Given the description of an element on the screen output the (x, y) to click on. 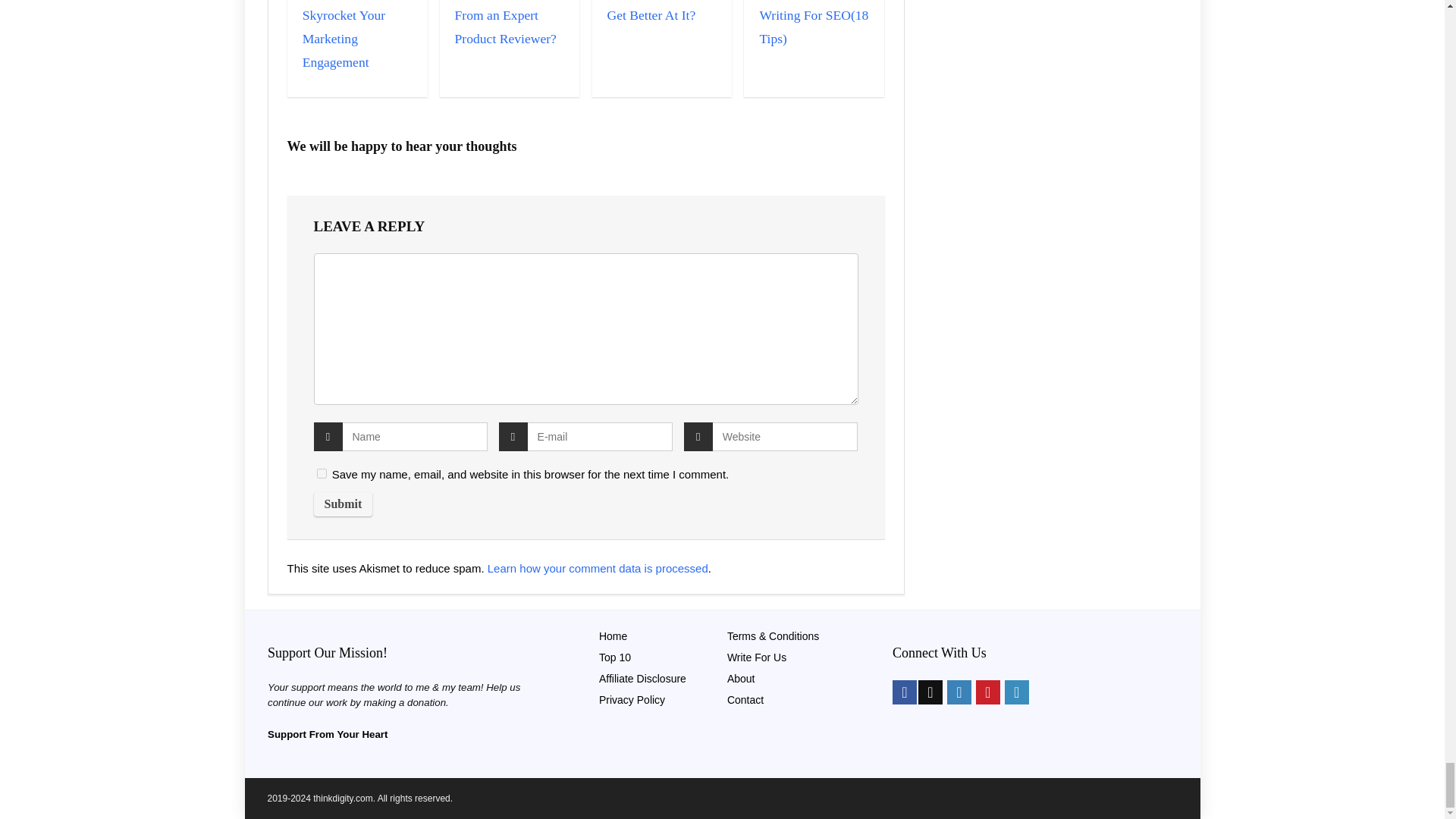
yes (321, 473)
twitter (930, 692)
Facebook (904, 692)
Instagramm (959, 692)
Submit (343, 504)
